Given the description of an element on the screen output the (x, y) to click on. 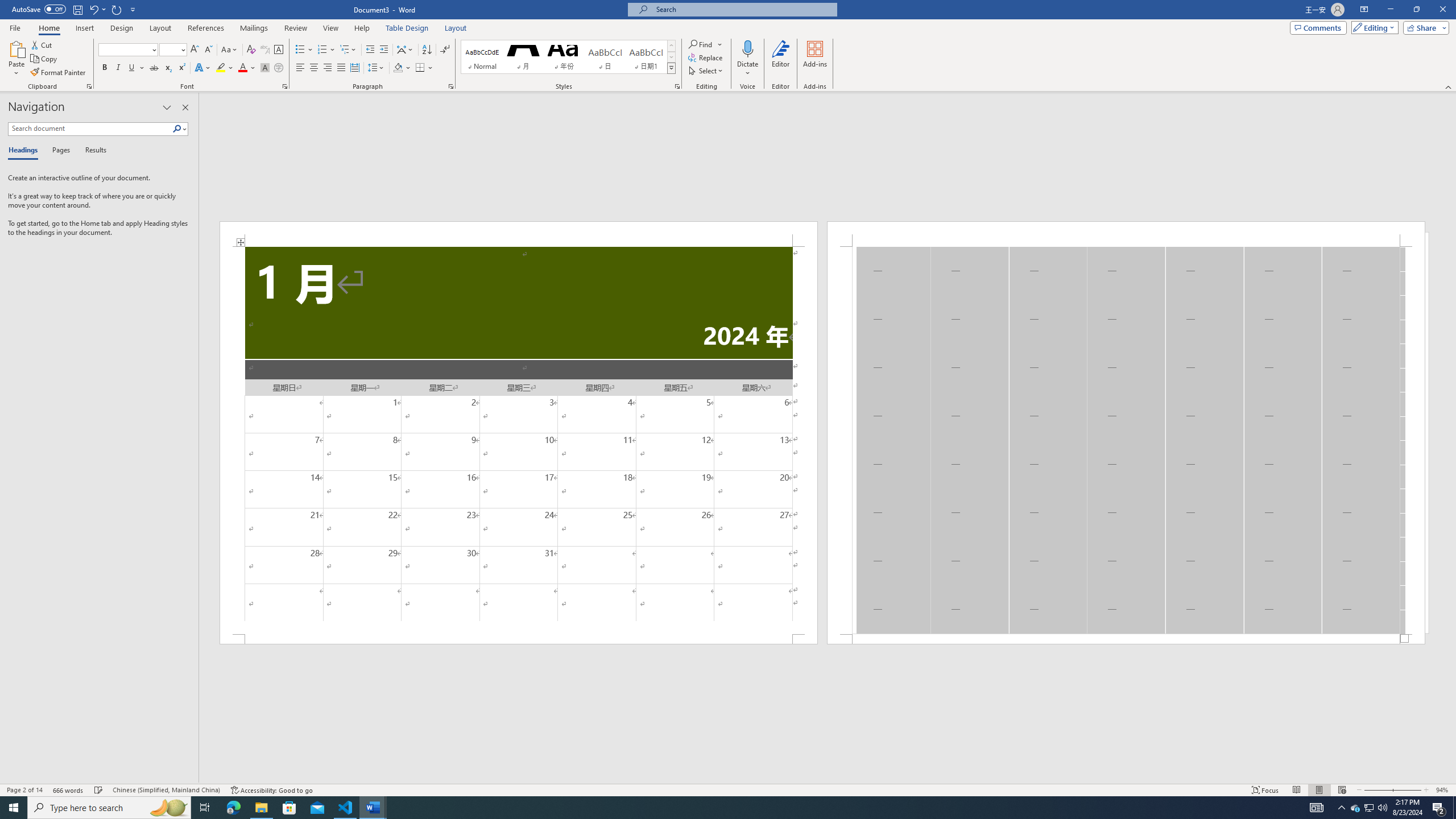
AutomationID: QuickStylesGallery (568, 56)
Text Highlight Color Yellow (220, 67)
Microsoft search (742, 9)
Font Color RGB(255, 0, 0) (241, 67)
Read Mode (1296, 790)
Copy (45, 58)
Styles (670, 67)
Phonetic Guide... (264, 49)
